Given the description of an element on the screen output the (x, y) to click on. 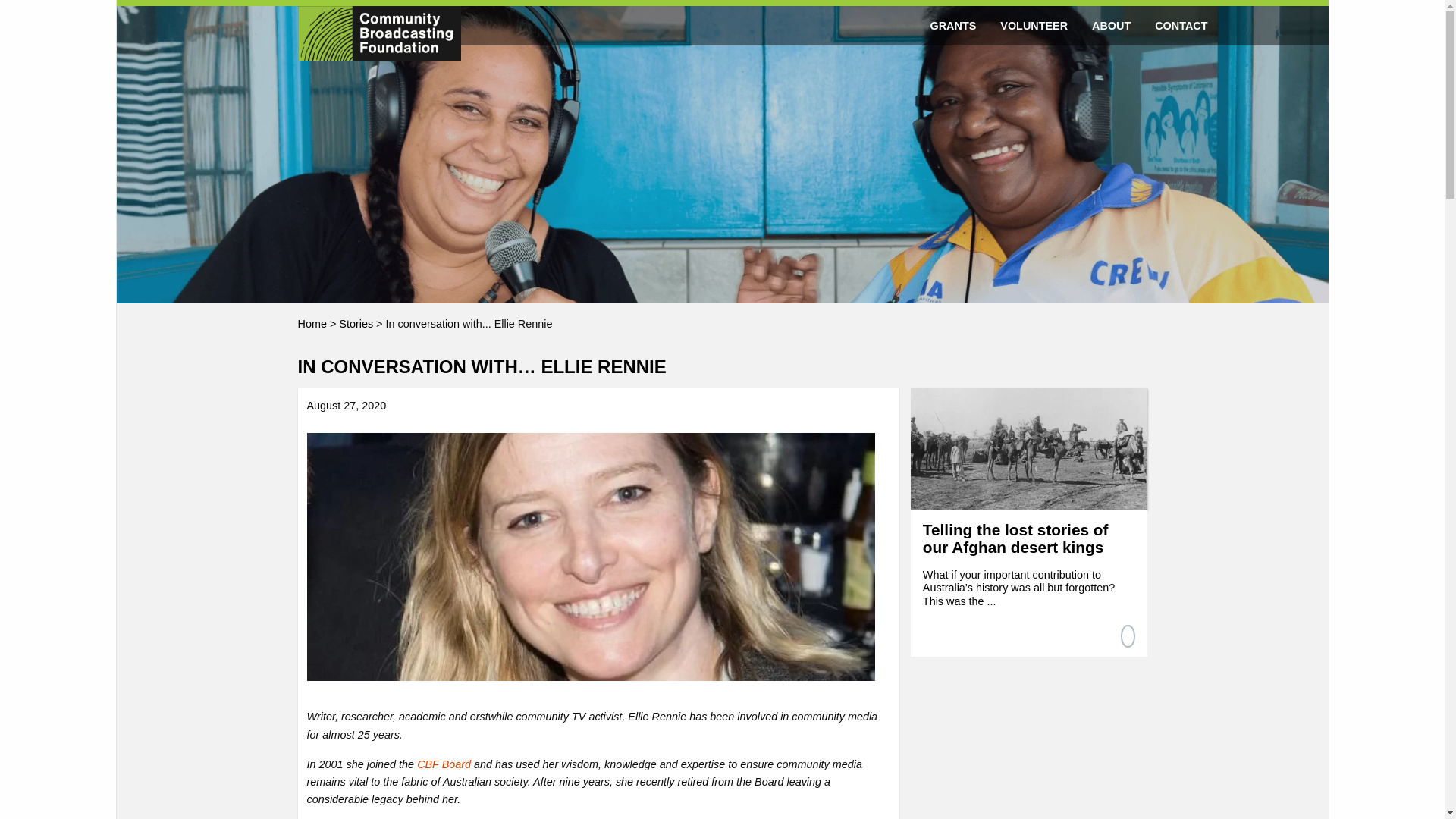
ABOUT (1111, 26)
Home (311, 323)
CONTACT (1181, 26)
Search (31, 15)
VOLUNTEER (1034, 26)
CBF Board (443, 764)
Stories (355, 323)
GRANTS (953, 26)
